Given the description of an element on the screen output the (x, y) to click on. 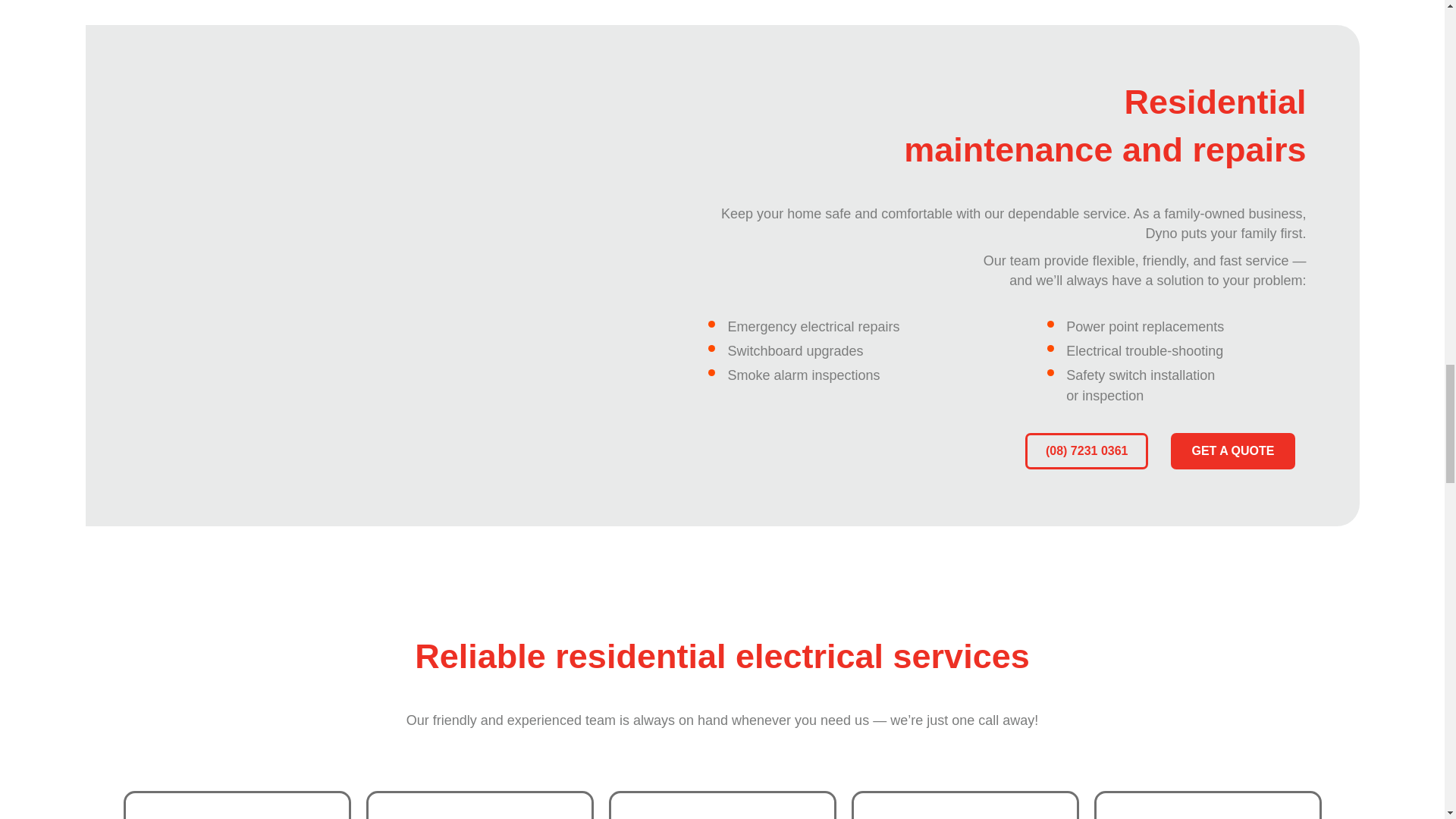
audio-visual (479, 790)
appliances (236, 790)
